Given the description of an element on the screen output the (x, y) to click on. 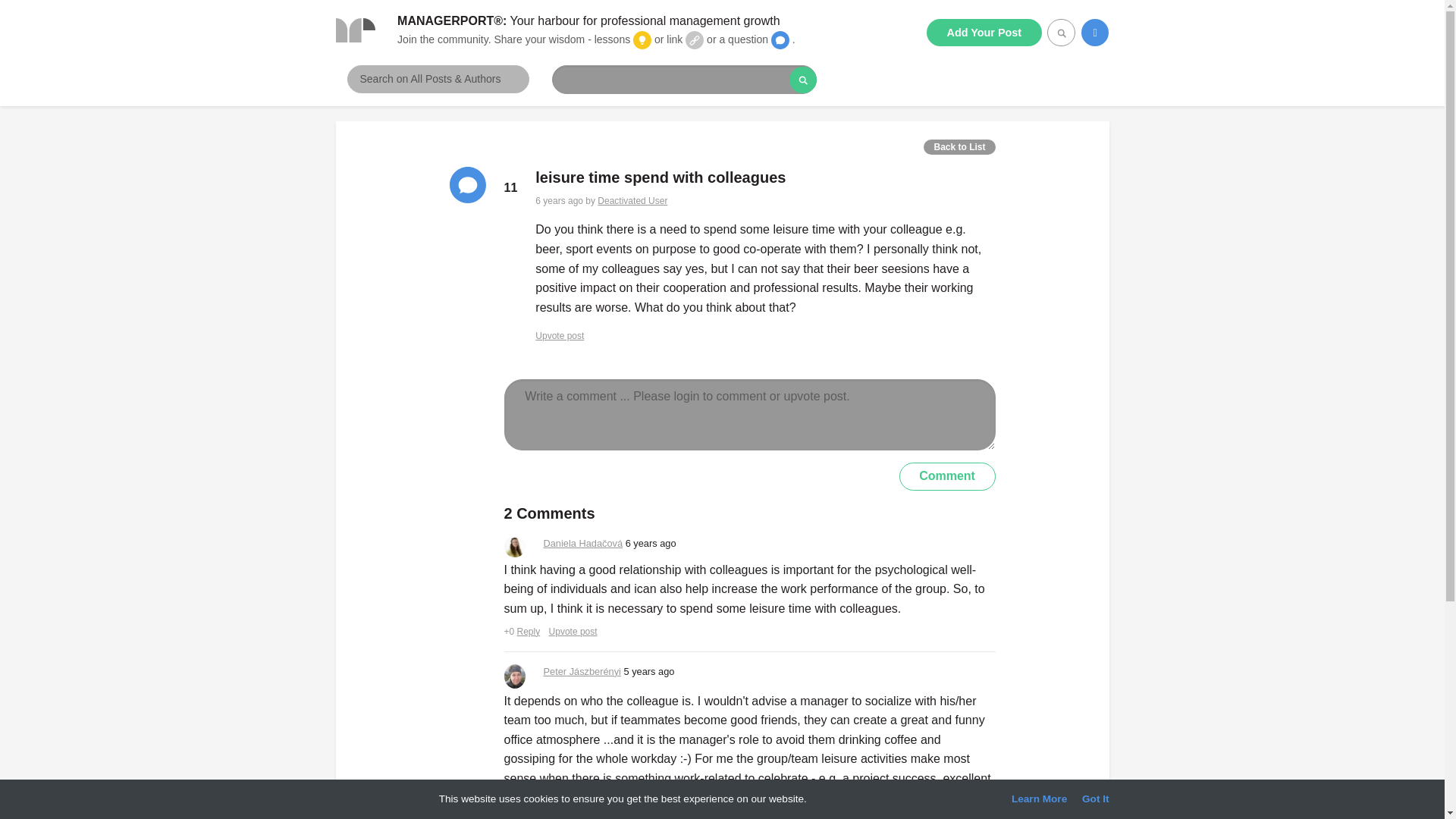
Upvote post (572, 631)
Deactivated User (631, 200)
Reply (528, 631)
Got It (1095, 798)
Back to List (958, 146)
Comment (947, 476)
Upvote post (559, 335)
Add Your Post (984, 31)
Learn More (1039, 798)
Comment (947, 476)
